Given the description of an element on the screen output the (x, y) to click on. 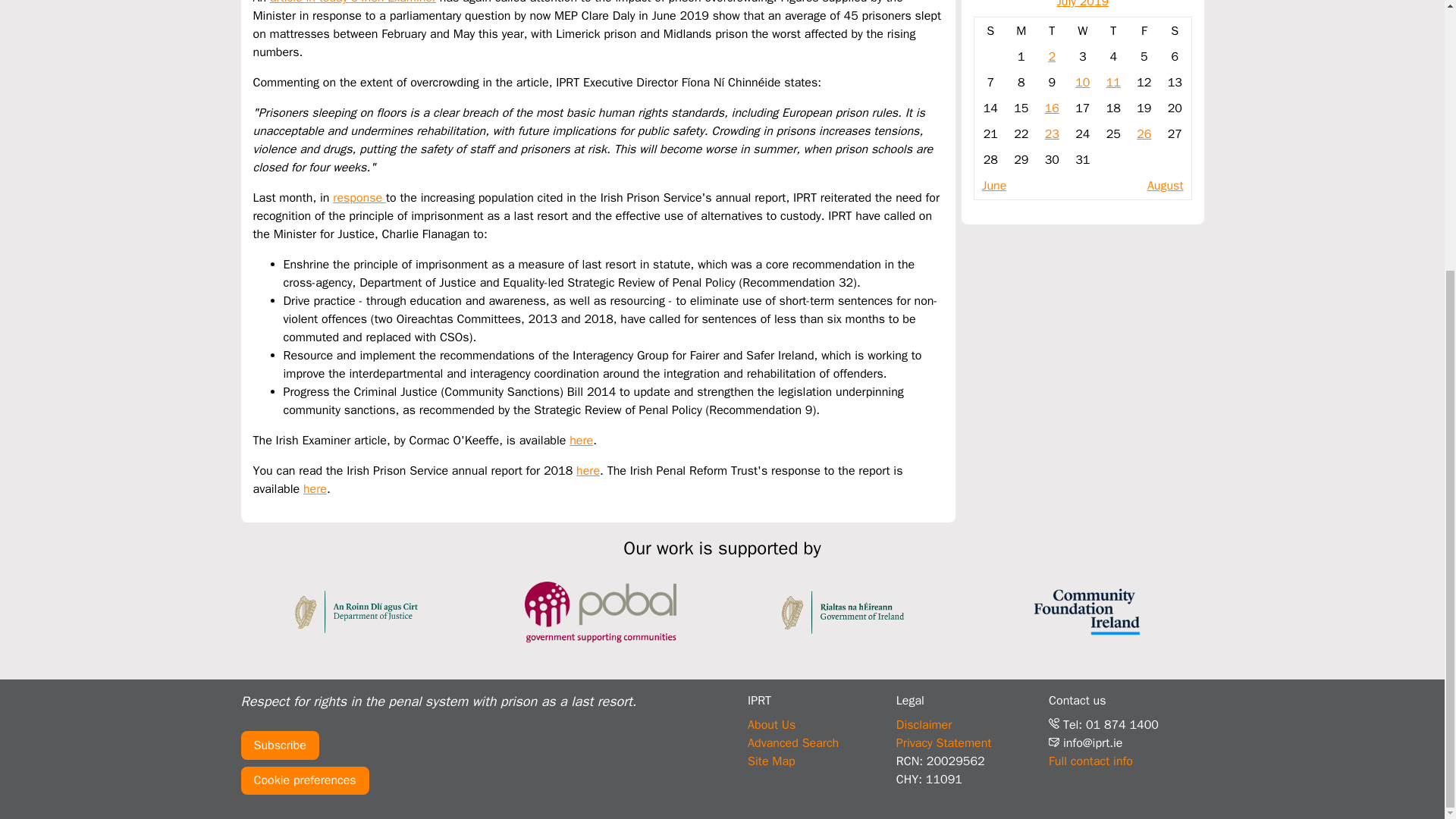
View all posts for this month (1082, 4)
View posts for August 2019 (1165, 185)
View posts for June 2019 (993, 185)
here (587, 470)
here (314, 488)
article from the Irish Examiner (352, 2)
here (580, 440)
response (359, 197)
